Given the description of an element on the screen output the (x, y) to click on. 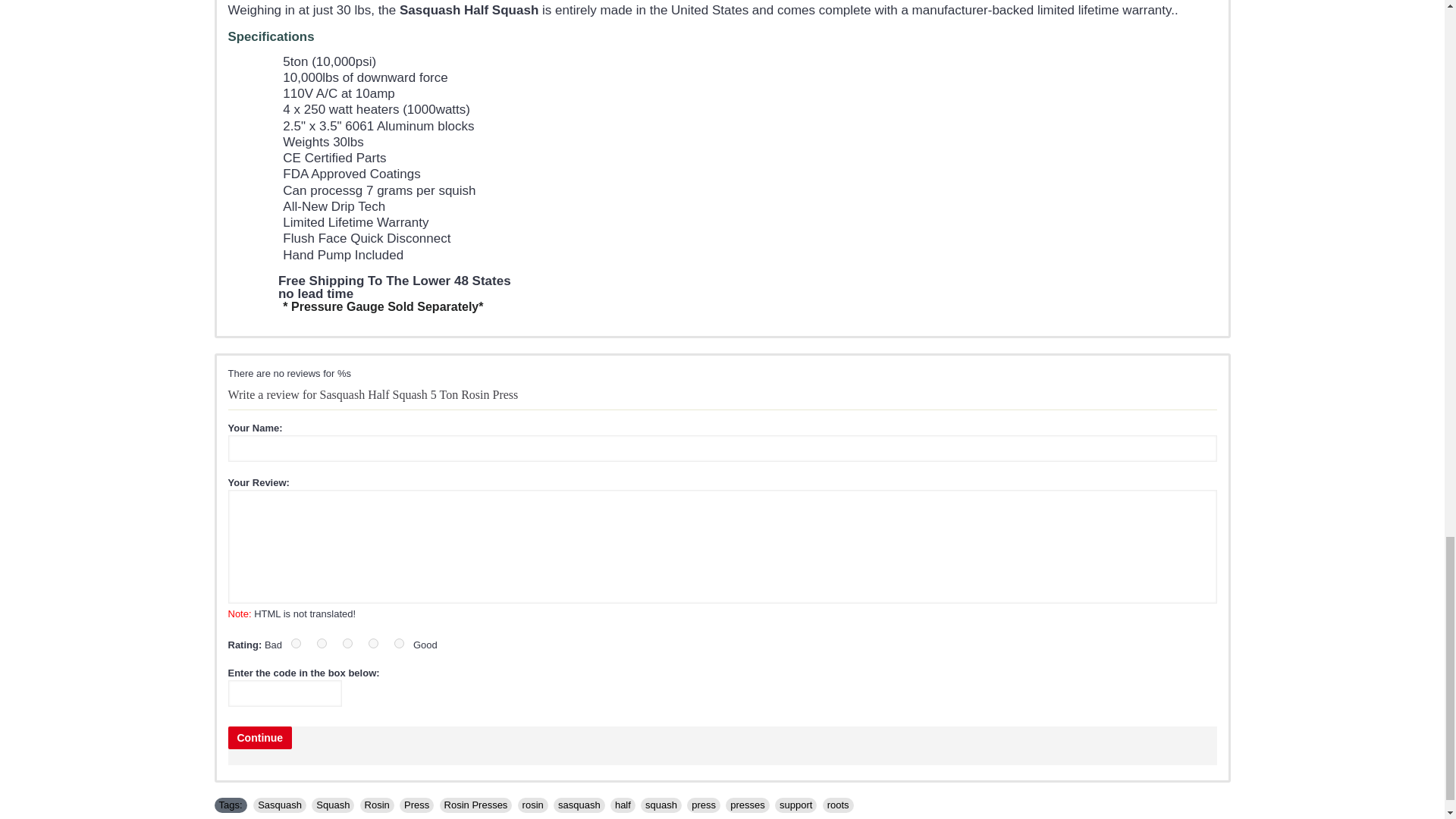
3 (347, 643)
4 (373, 643)
5 (399, 643)
2 (321, 643)
1 (296, 643)
